Given the description of an element on the screen output the (x, y) to click on. 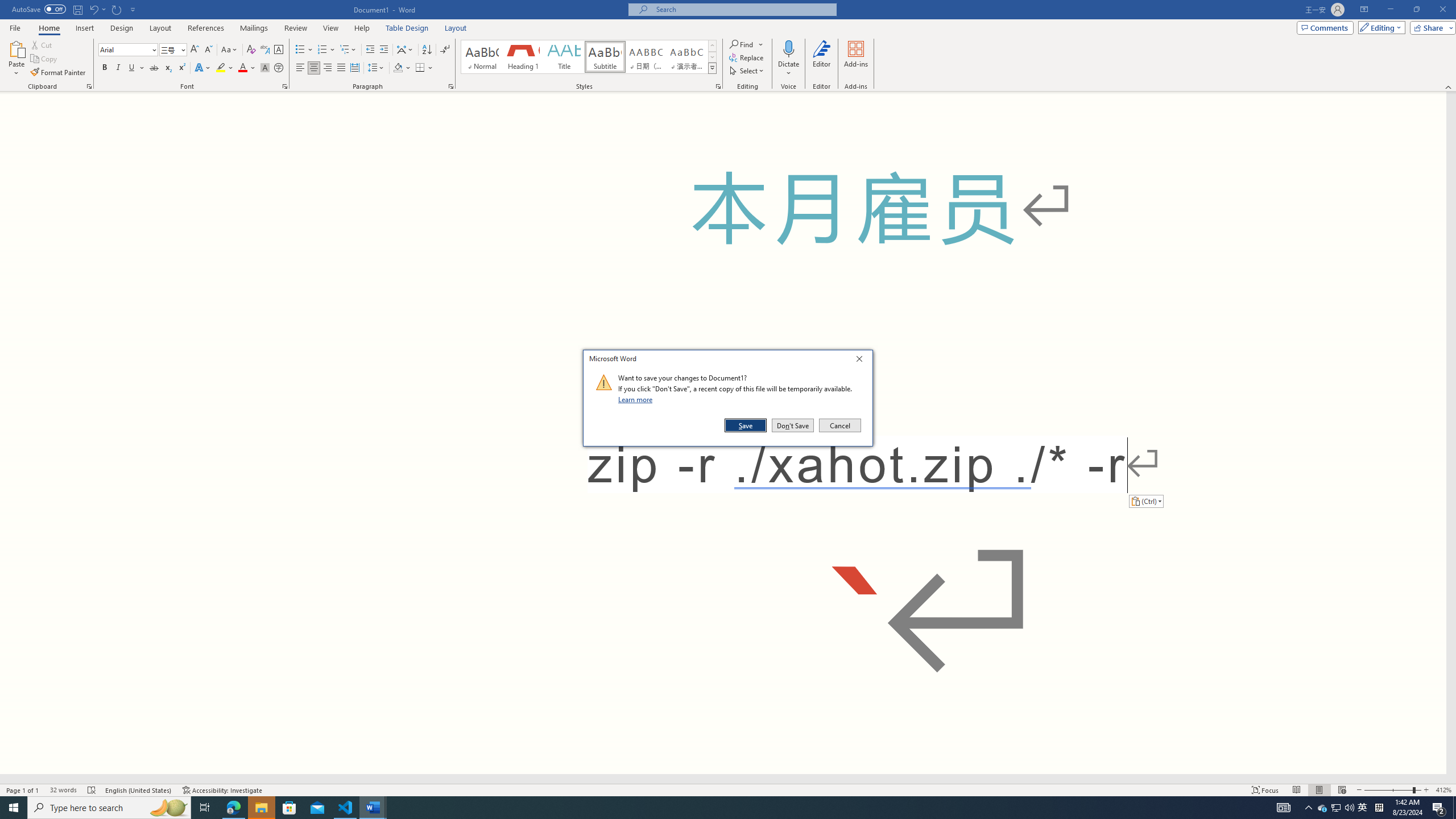
Align Left (300, 67)
Show/Hide Editing Marks (444, 49)
References (205, 28)
Grow Font (193, 49)
Word Count 32 words (63, 790)
Align Right (327, 67)
Font Color Red (241, 67)
Tray Input Indicator - Chinese (Simplified, China) (1378, 807)
Heading 1 (522, 56)
Bold (104, 67)
Styles... (717, 85)
Character Shading (264, 67)
